Given the description of an element on the screen output the (x, y) to click on. 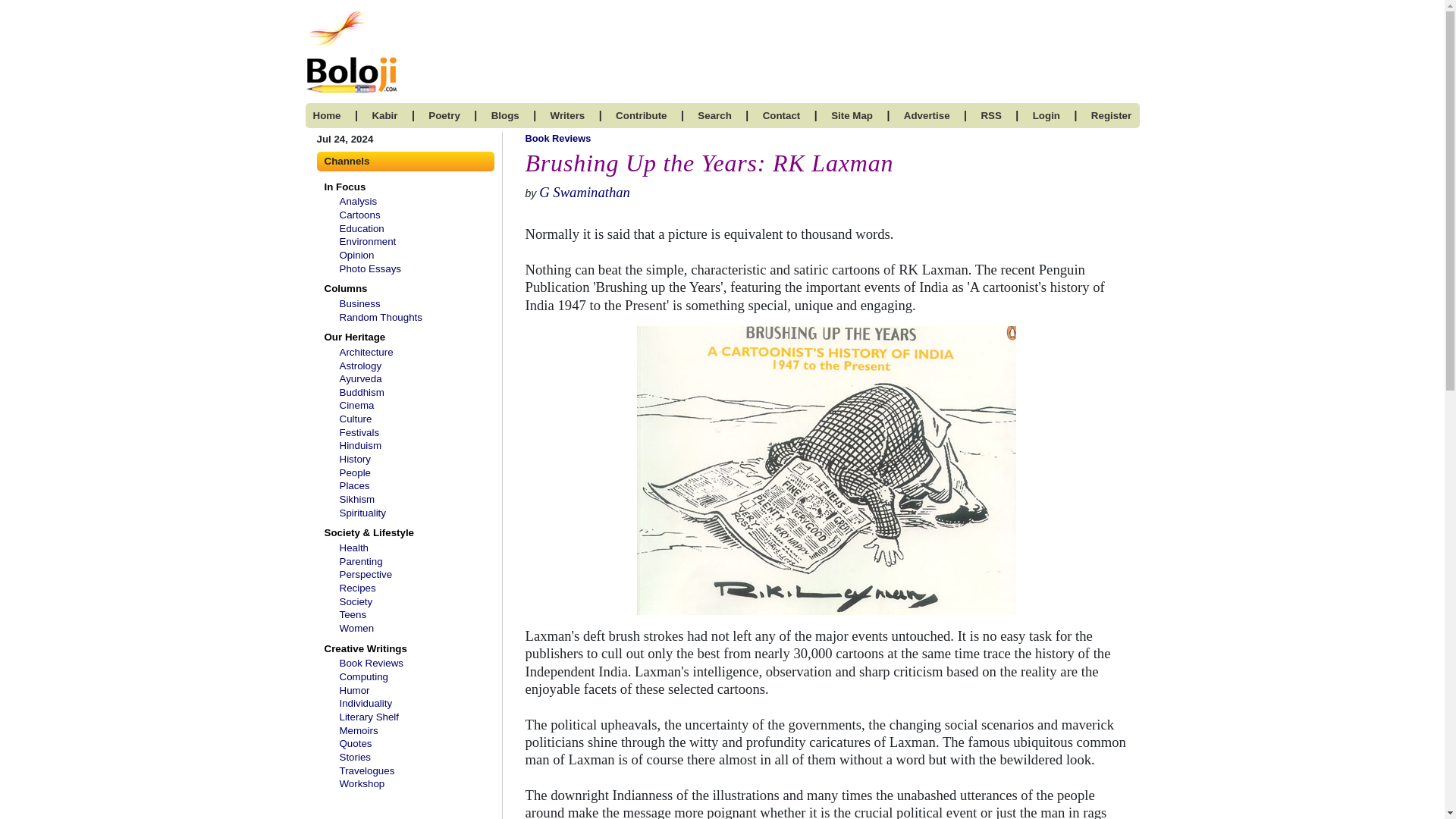
Cartoons (359, 214)
Culture (355, 419)
Search (713, 115)
Contact (781, 115)
Places (354, 485)
Contribute (640, 115)
Environment (367, 241)
In Focus (341, 186)
Business (359, 303)
Random Thoughts (380, 317)
Kabir (384, 115)
Site Map (851, 115)
Education (361, 228)
Architecture (366, 351)
Poetry (444, 115)
